Given the description of an element on the screen output the (x, y) to click on. 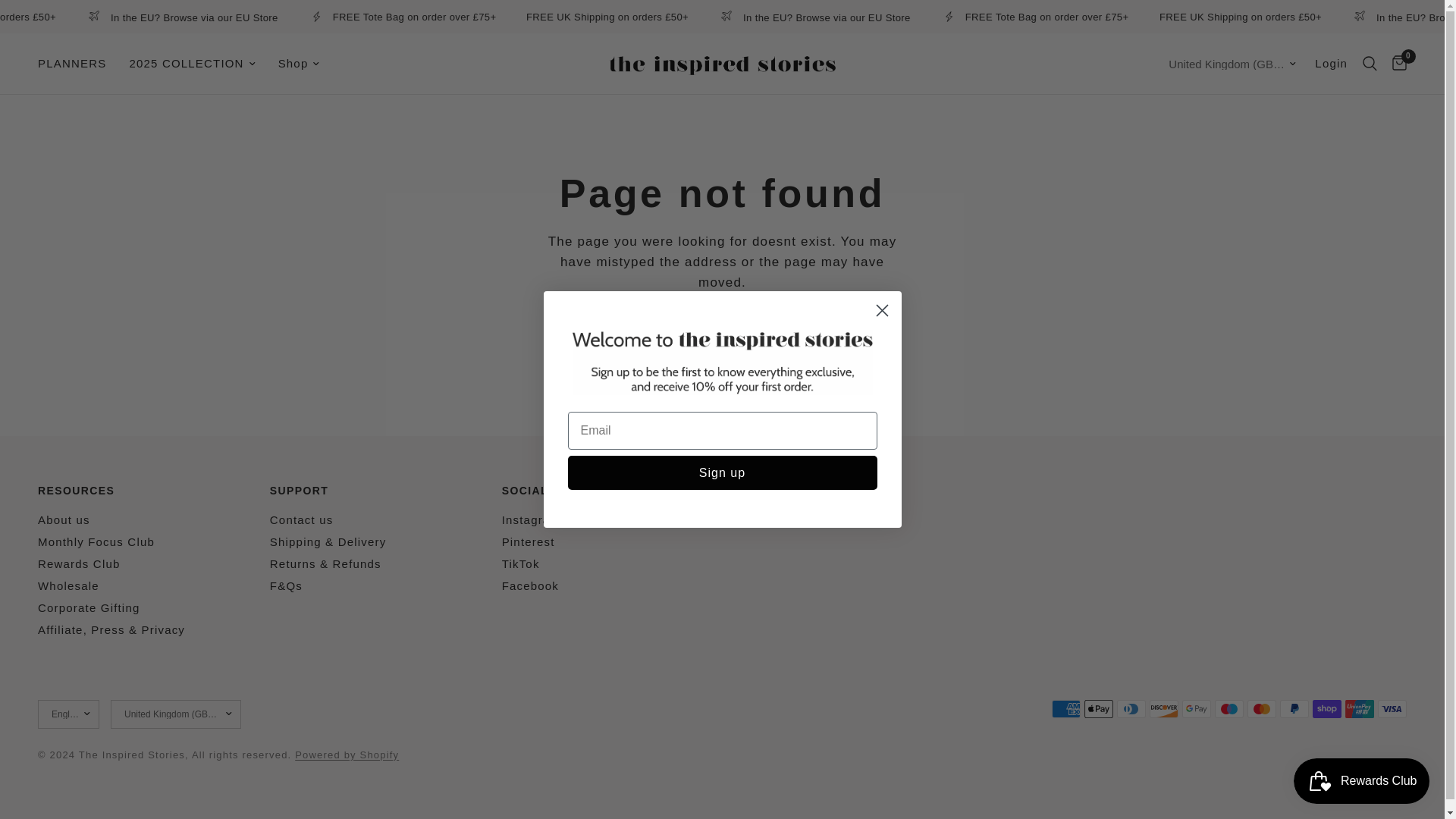
In the EU? Browse via our EU Store (963, 16)
About us (63, 519)
PLANNERS (71, 63)
Monthly Focus Club (95, 541)
2025 COLLECTION (191, 63)
In the EU? Browse via our EU Store (331, 16)
Shop (299, 63)
